Given the description of an element on the screen output the (x, y) to click on. 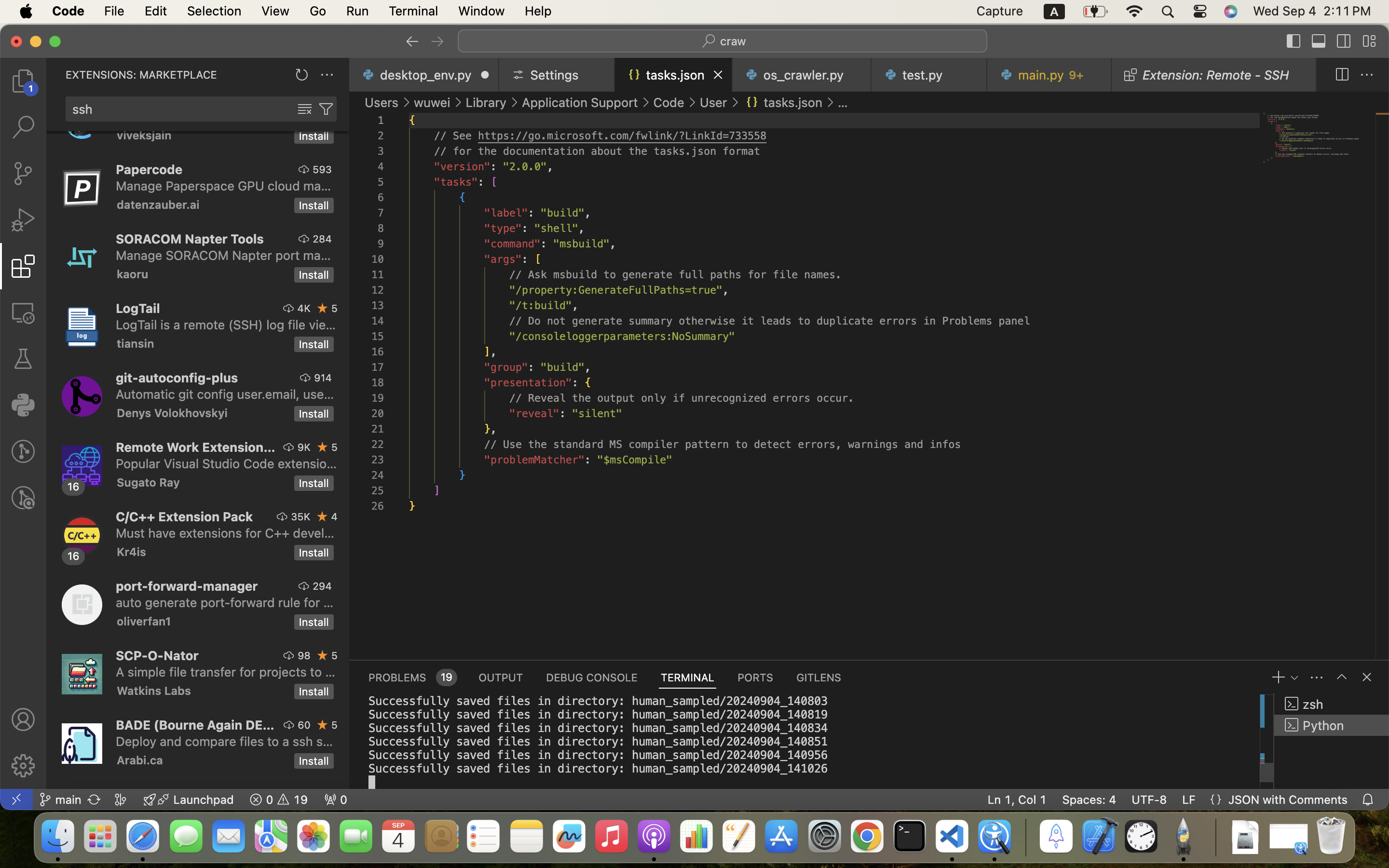
Must have extensions for C++ development in Visual Studio Code. Element type: AXStaticText (224, 532)
Launchpad   Element type: AXButton (188, 799)
main  Element type: AXButton (59, 799)
 Element type: AXCheckBox (1293, 41)
0 test.py   Element type: AXRadioButton (929, 74)
